Given the description of an element on the screen output the (x, y) to click on. 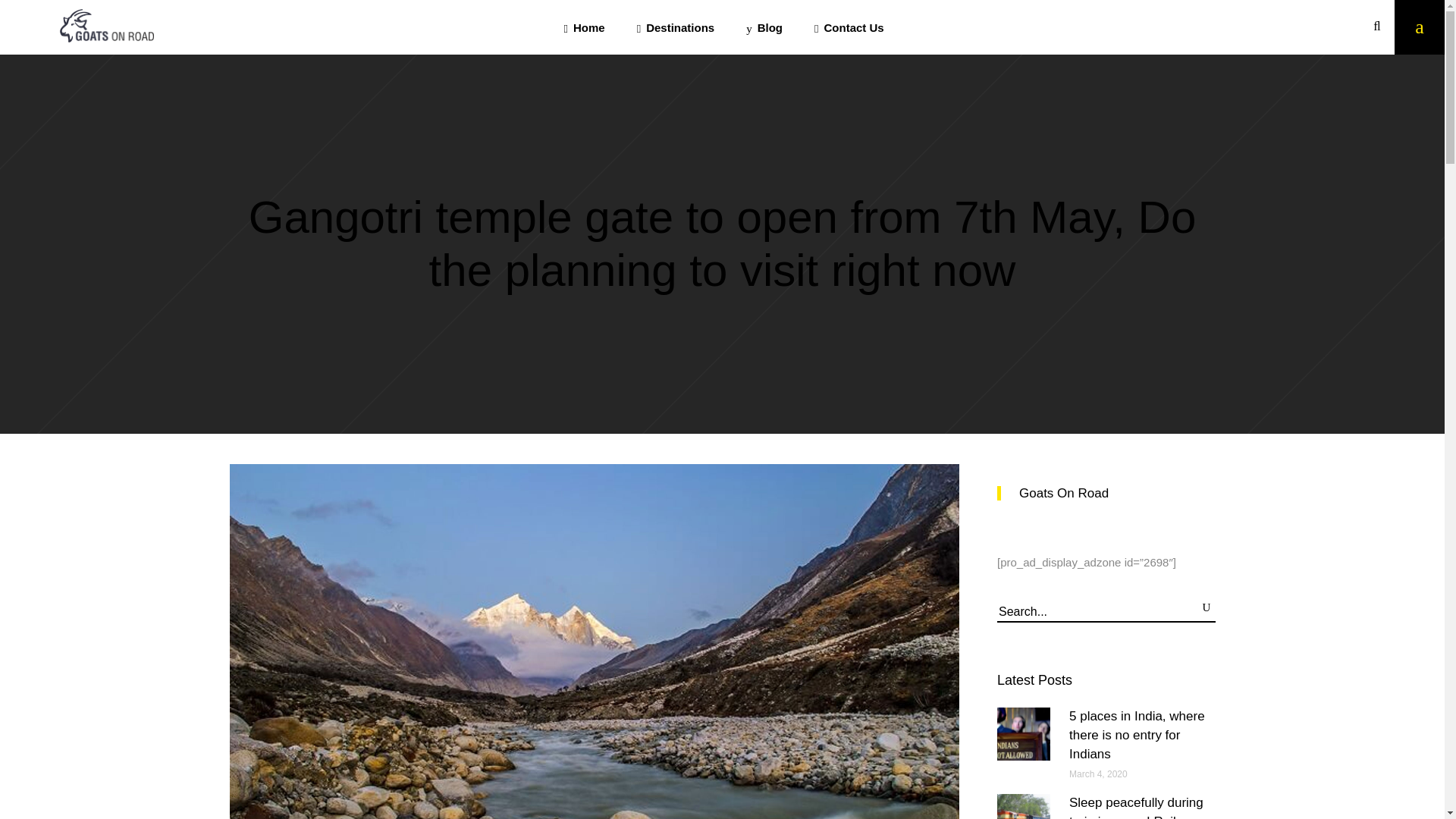
Destinations (675, 27)
Blog (763, 27)
Home (583, 27)
Contact Us (848, 27)
